Given the description of an element on the screen output the (x, y) to click on. 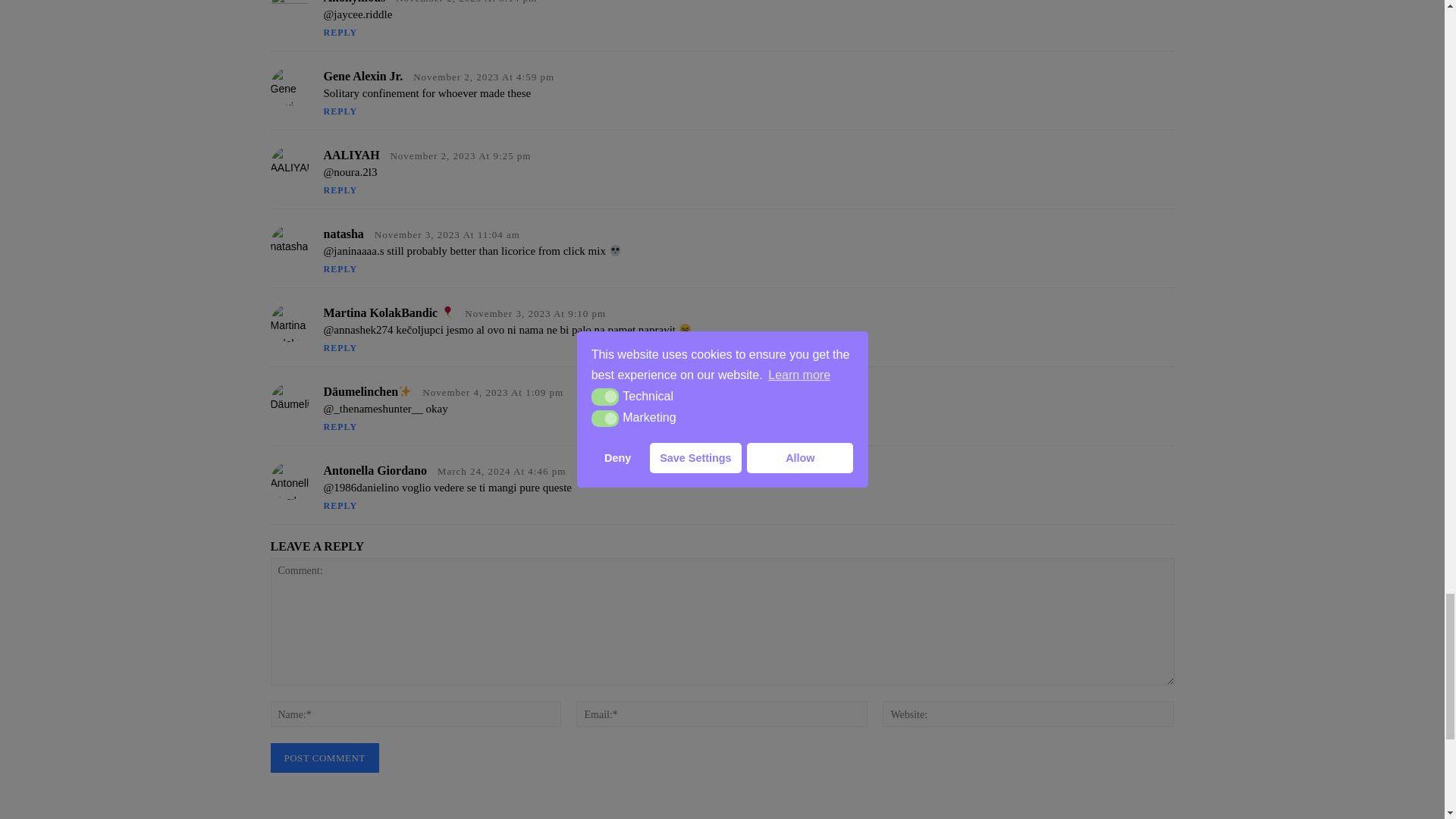
Post Comment (323, 757)
